Given the description of an element on the screen output the (x, y) to click on. 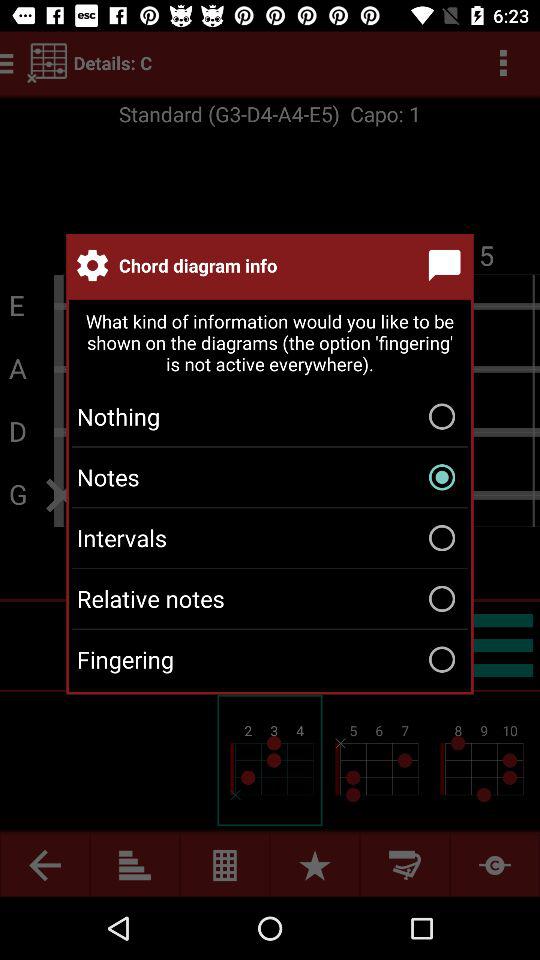
choose the what kind of icon (269, 344)
